Given the description of an element on the screen output the (x, y) to click on. 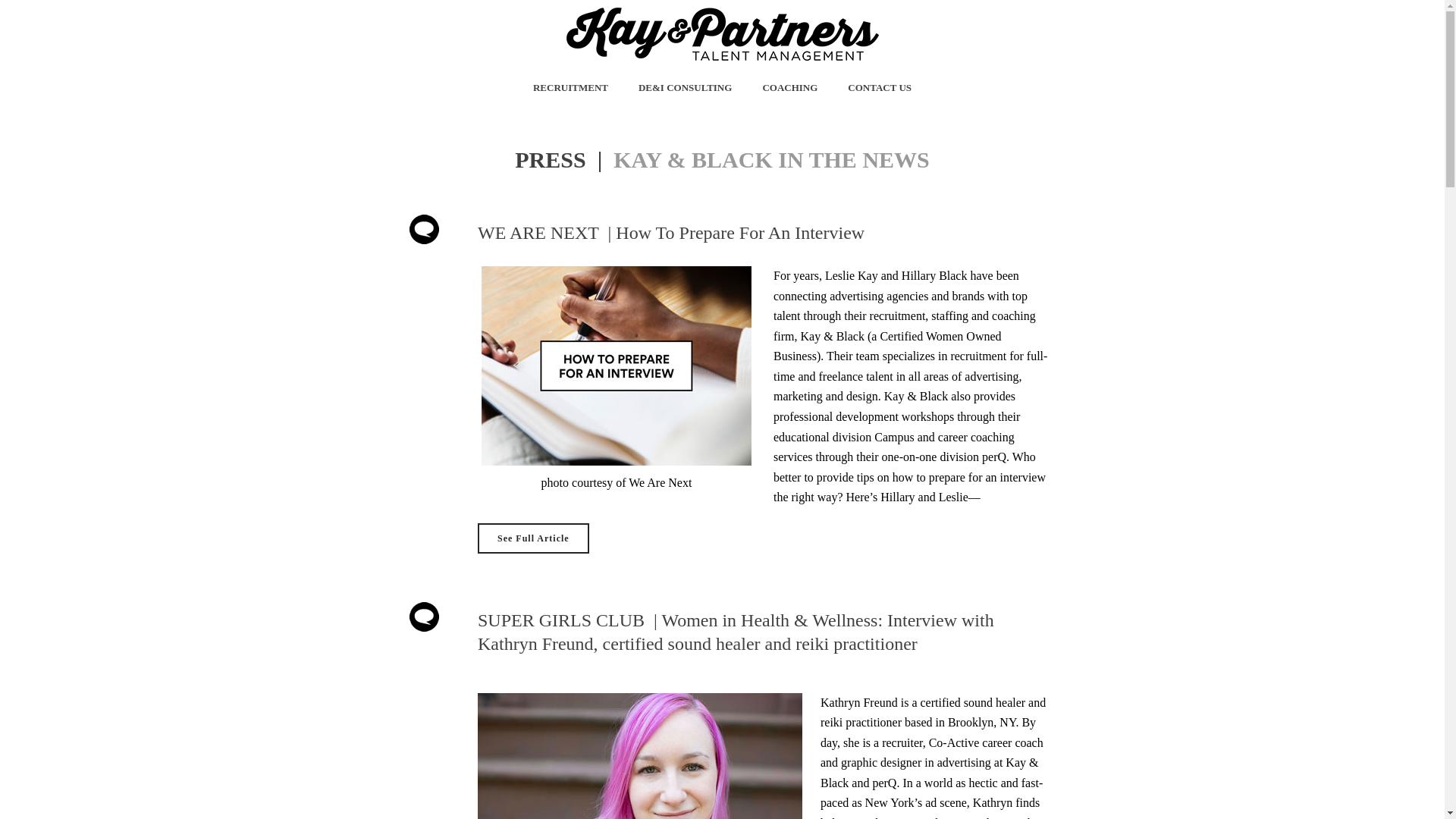
See Full Article (533, 538)
CONTACT US (879, 87)
CONTACT US (879, 87)
RECRUITMENT (570, 87)
See Full Article (533, 538)
COACHING (789, 87)
RECRUITMENT (570, 87)
COACHING (789, 87)
